Given the description of an element on the screen output the (x, y) to click on. 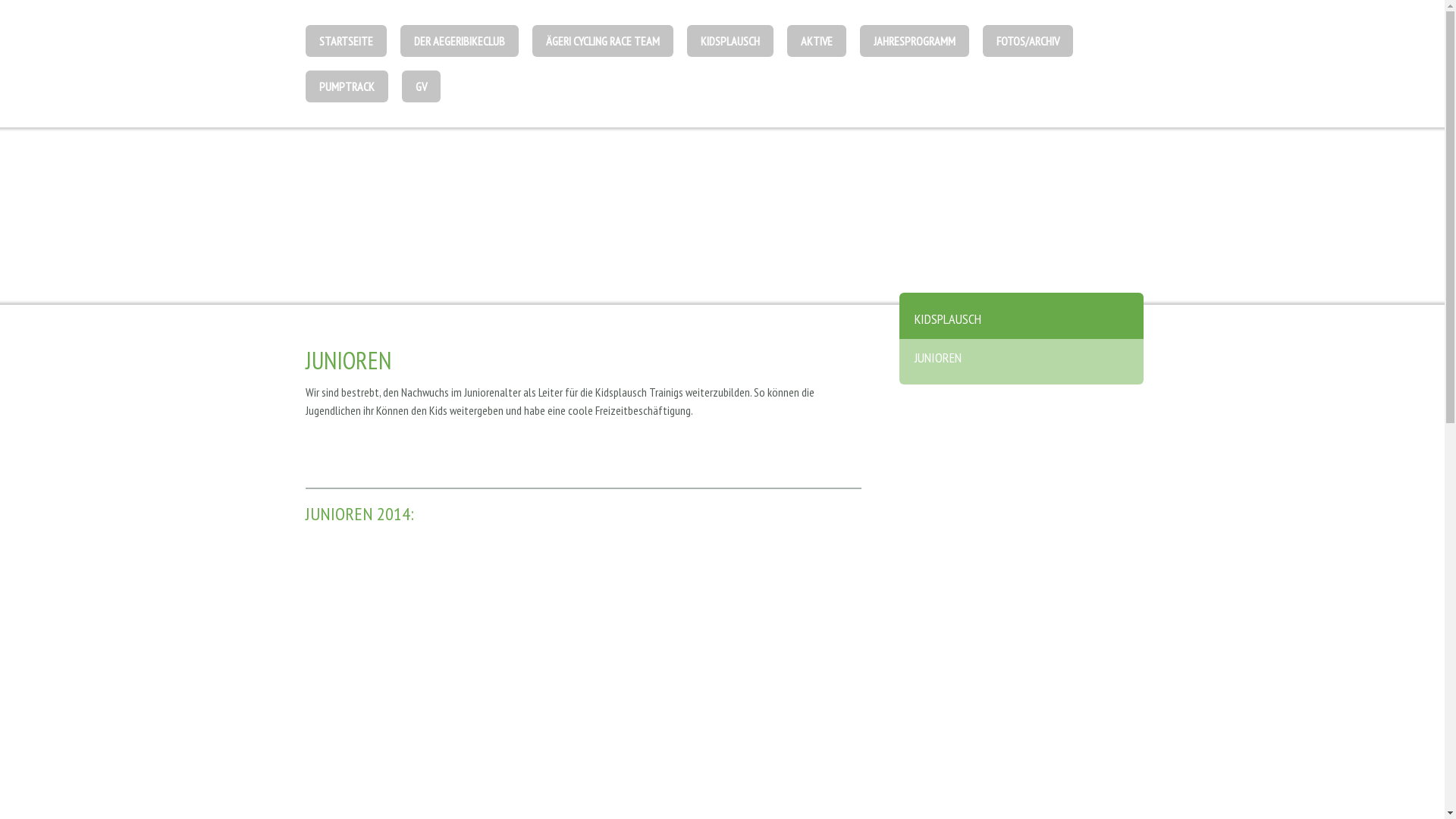
JUNIOREN Element type: text (1021, 361)
JAHRESPROGRAMM Element type: text (914, 40)
AKTIVE Element type: text (816, 40)
DER AEGERIBIKECLUB Element type: text (459, 40)
PUMPTRACK Element type: text (345, 86)
GV Element type: text (420, 86)
KIDSPLAUSCH Element type: text (730, 40)
FOTOS/ARCHIV Element type: text (1027, 40)
STARTSEITE Element type: text (344, 40)
KIDSPLAUSCH Element type: text (1021, 315)
